Given the description of an element on the screen output the (x, y) to click on. 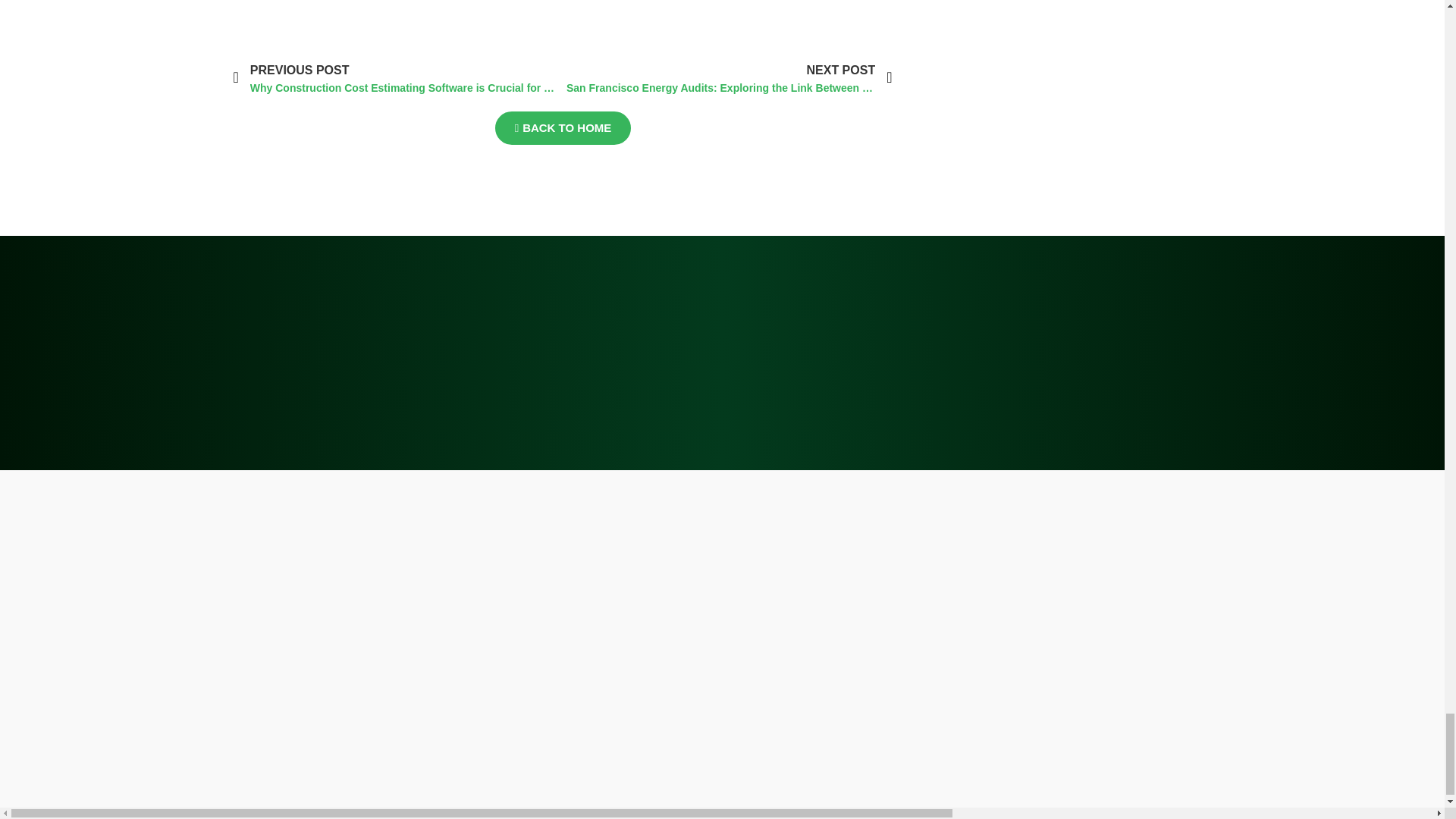
BACK TO HOME (563, 127)
